Given the description of an element on the screen output the (x, y) to click on. 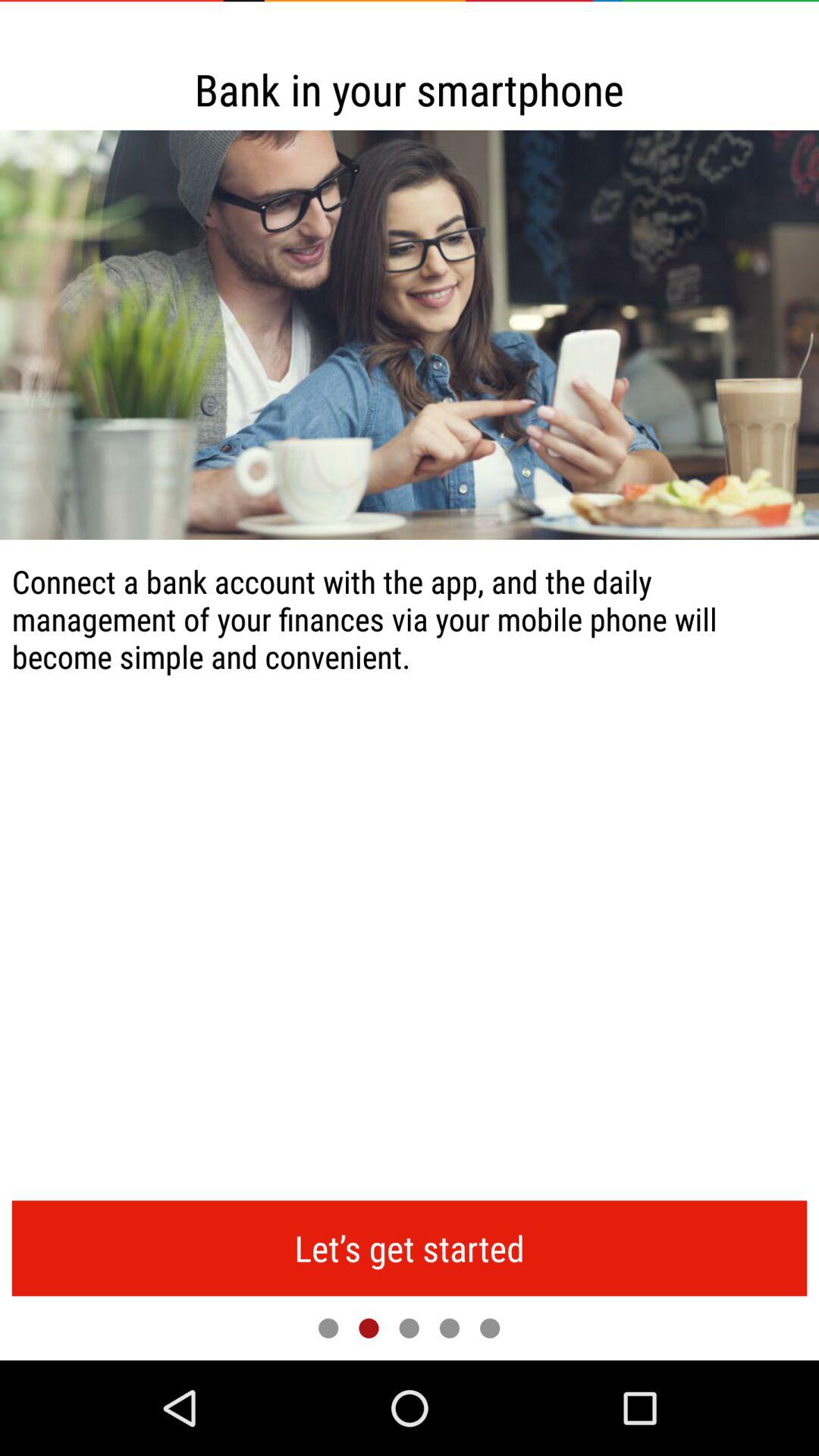
choose icon below let s get item (409, 1328)
